Given the description of an element on the screen output the (x, y) to click on. 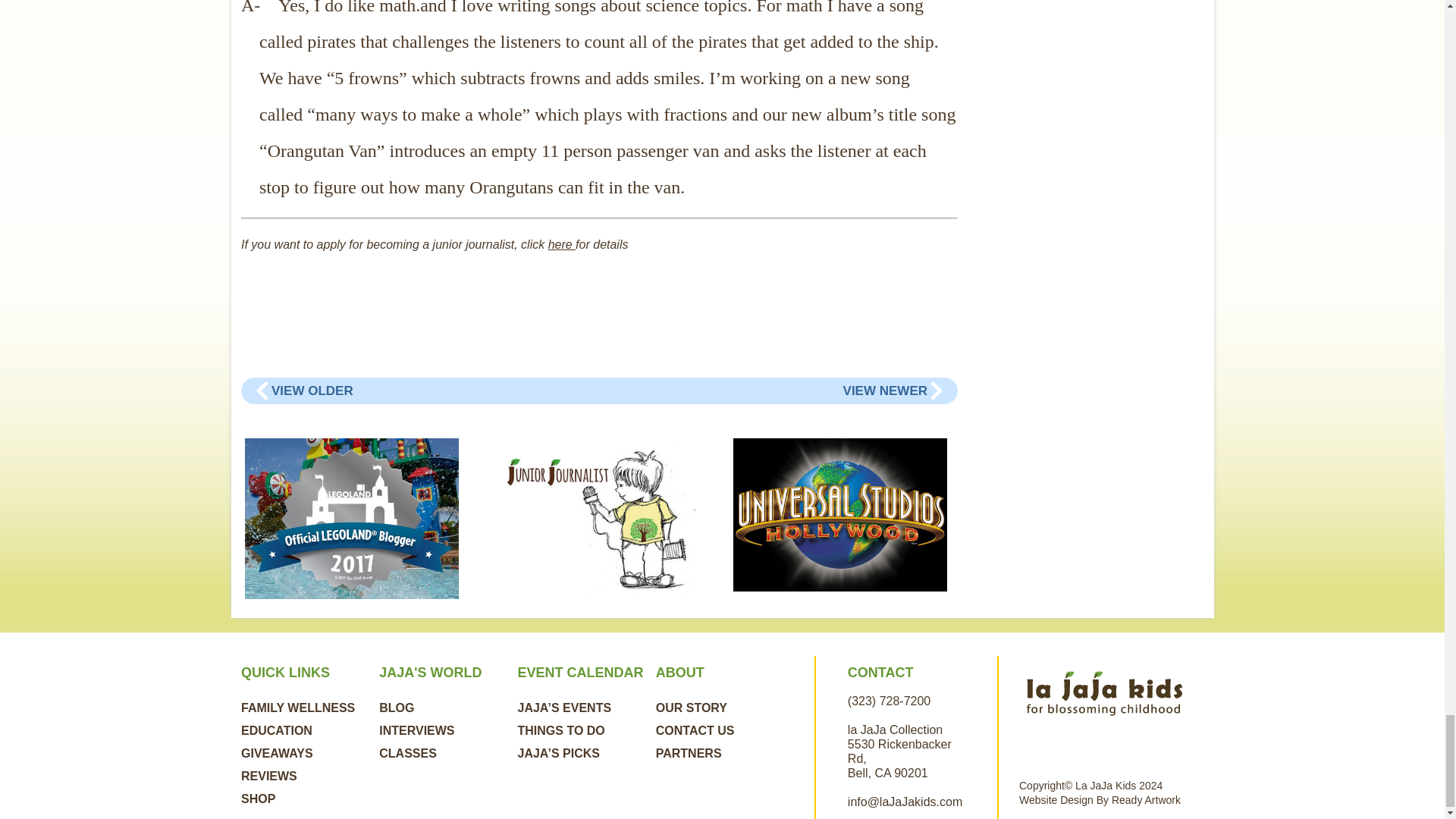
VIEW OLDER (311, 391)
here  (561, 244)
VIEW NEWER (885, 391)
